Given the description of an element on the screen output the (x, y) to click on. 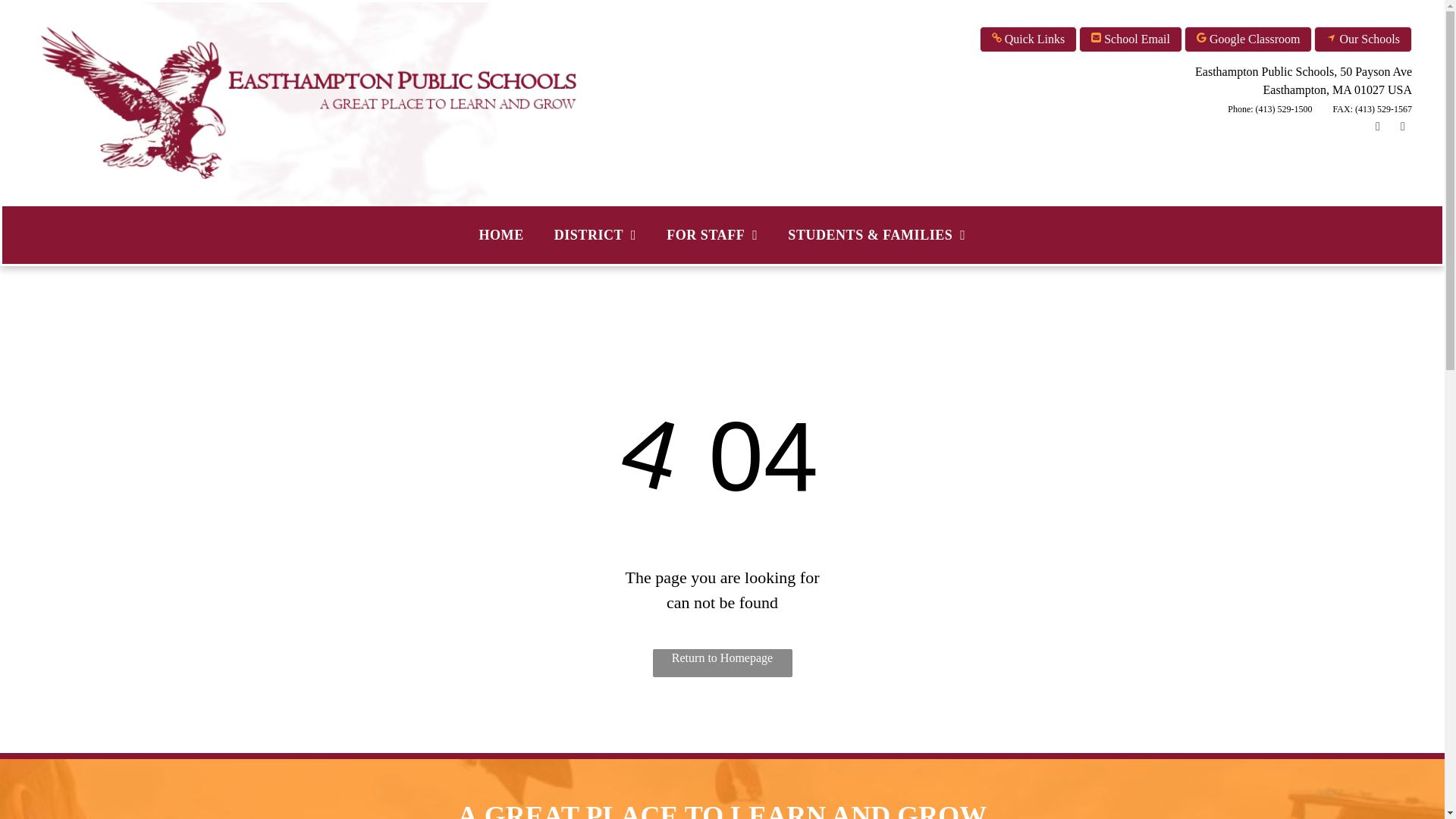
Quick Links (1028, 39)
Our Schools (1363, 39)
Google Classroom (1249, 39)
School Email (1130, 39)
